Given the description of an element on the screen output the (x, y) to click on. 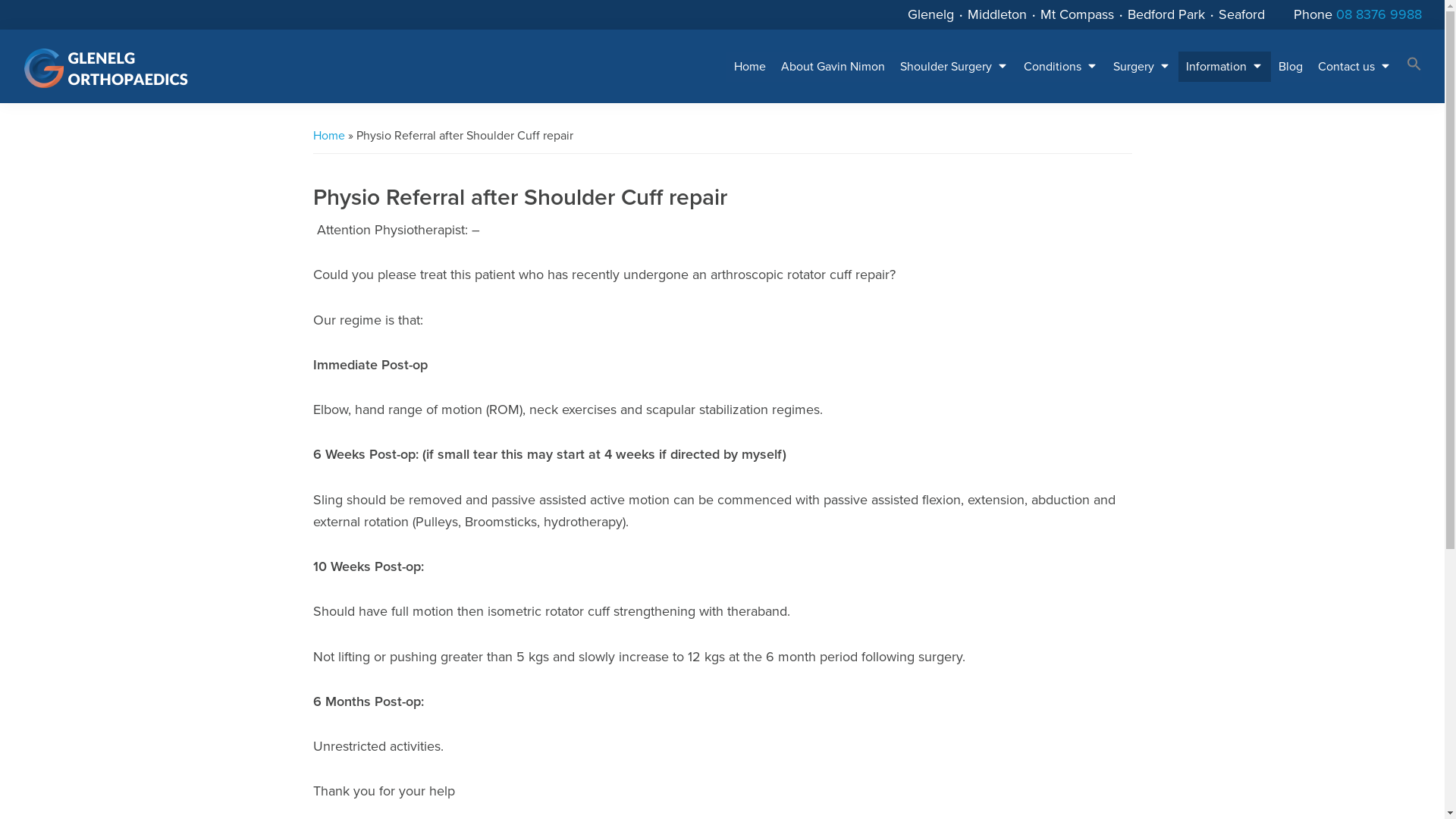
Shoulder Surgery Element type: text (954, 66)
Information Element type: text (1224, 66)
Surgery Element type: text (1141, 66)
Home Element type: text (328, 135)
08 8376 9988 Element type: text (1378, 14)
Mt Compass Element type: text (1076, 14)
Conditions Element type: text (1060, 66)
About Gavin Nimon Element type: text (832, 66)
Middleton Element type: text (996, 14)
Seaford Element type: text (1241, 14)
Contact us Element type: text (1354, 66)
Glenelg Element type: text (930, 14)
Home Element type: text (749, 66)
Blog Element type: text (1290, 66)
Skip to primary navigation Element type: text (0, 0)
Bedford Park Element type: text (1165, 14)
